Given the description of an element on the screen output the (x, y) to click on. 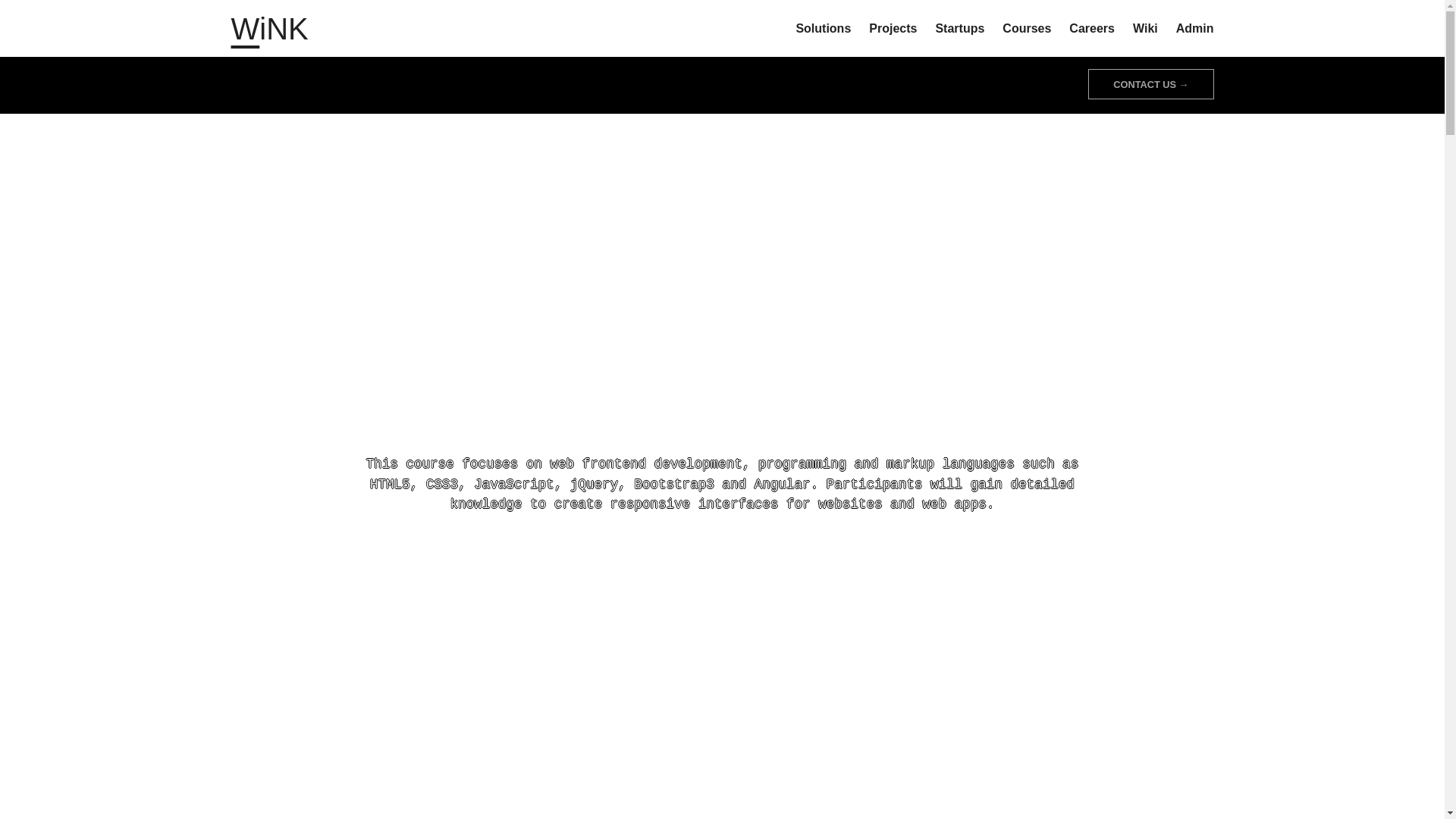
Courses (1027, 28)
Solutions (822, 28)
Projects (893, 28)
Admin (1195, 28)
Careers (1091, 28)
Startups (959, 28)
Wiki (1144, 28)
WiNK (268, 28)
